Given the description of an element on the screen output the (x, y) to click on. 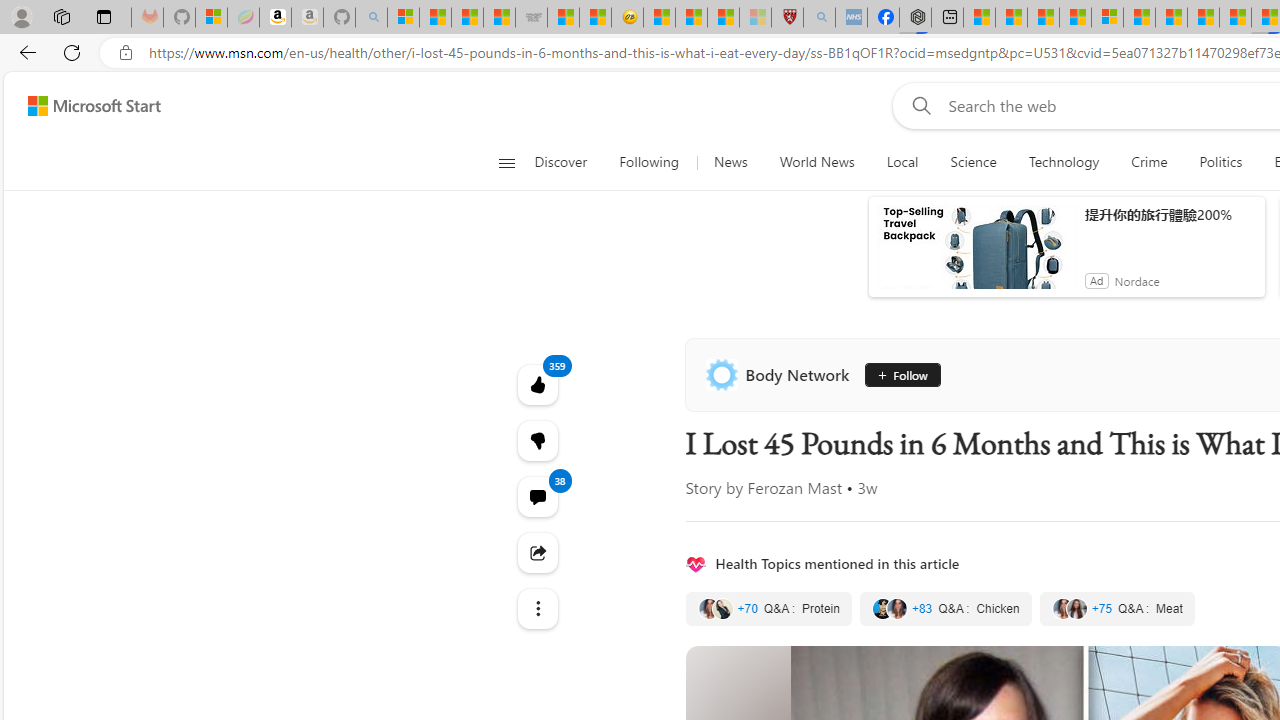
Class: at-item (537, 609)
